Given the description of an element on the screen output the (x, y) to click on. 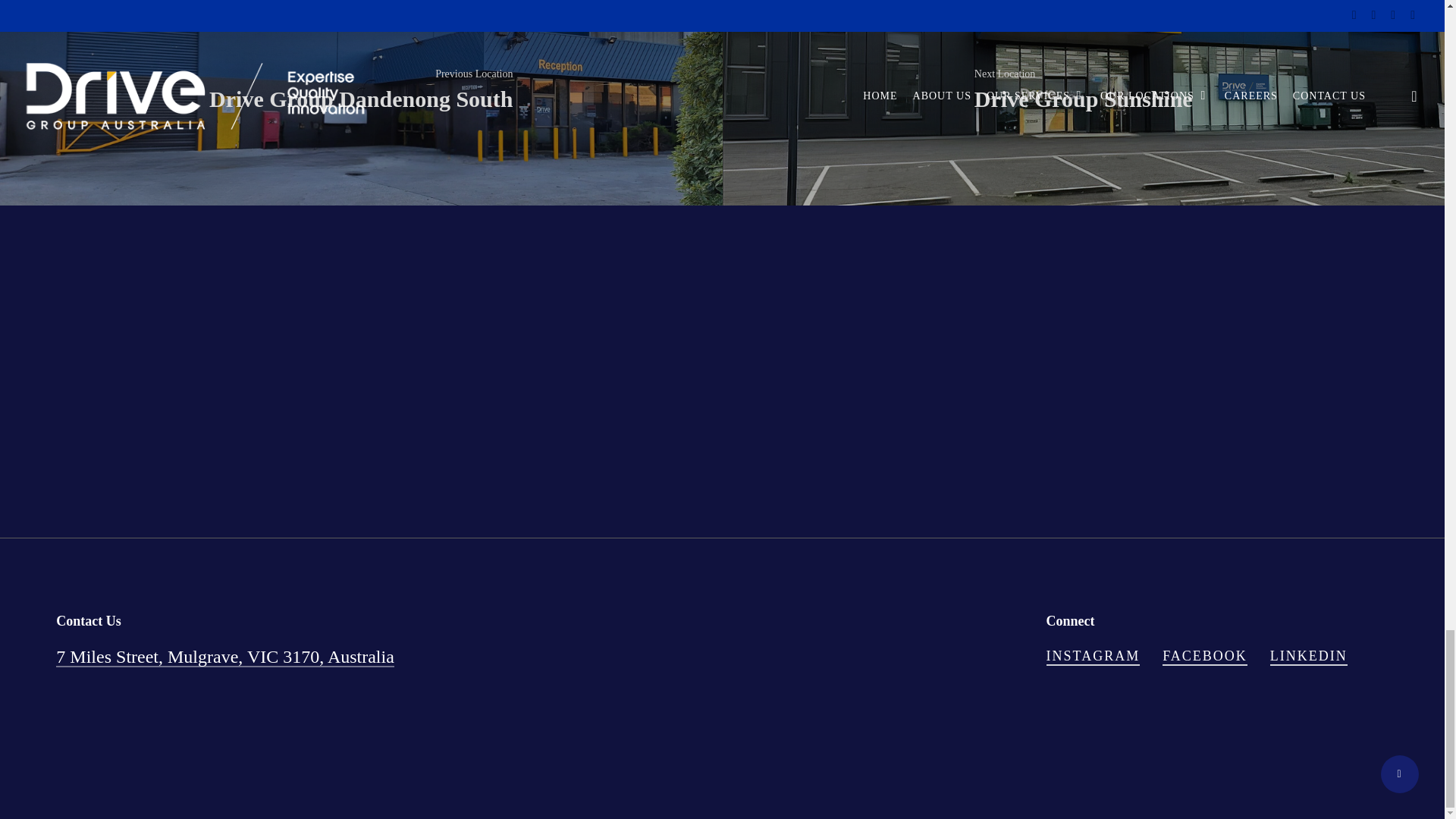
7 Miles Street, Mulgrave, VIC 3170, Australia (225, 656)
